Given the description of an element on the screen output the (x, y) to click on. 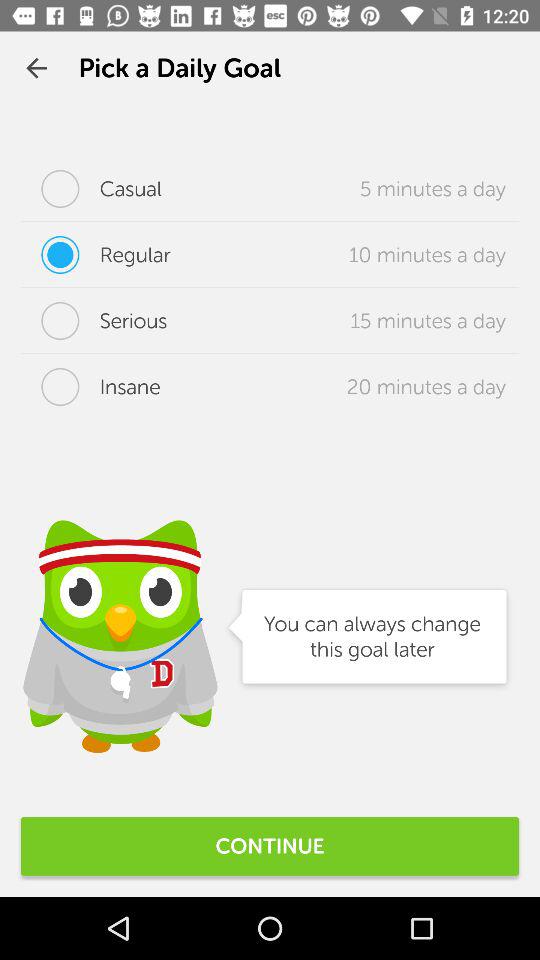
tap the item next to 10 minutes a icon (95, 255)
